Given the description of an element on the screen output the (x, y) to click on. 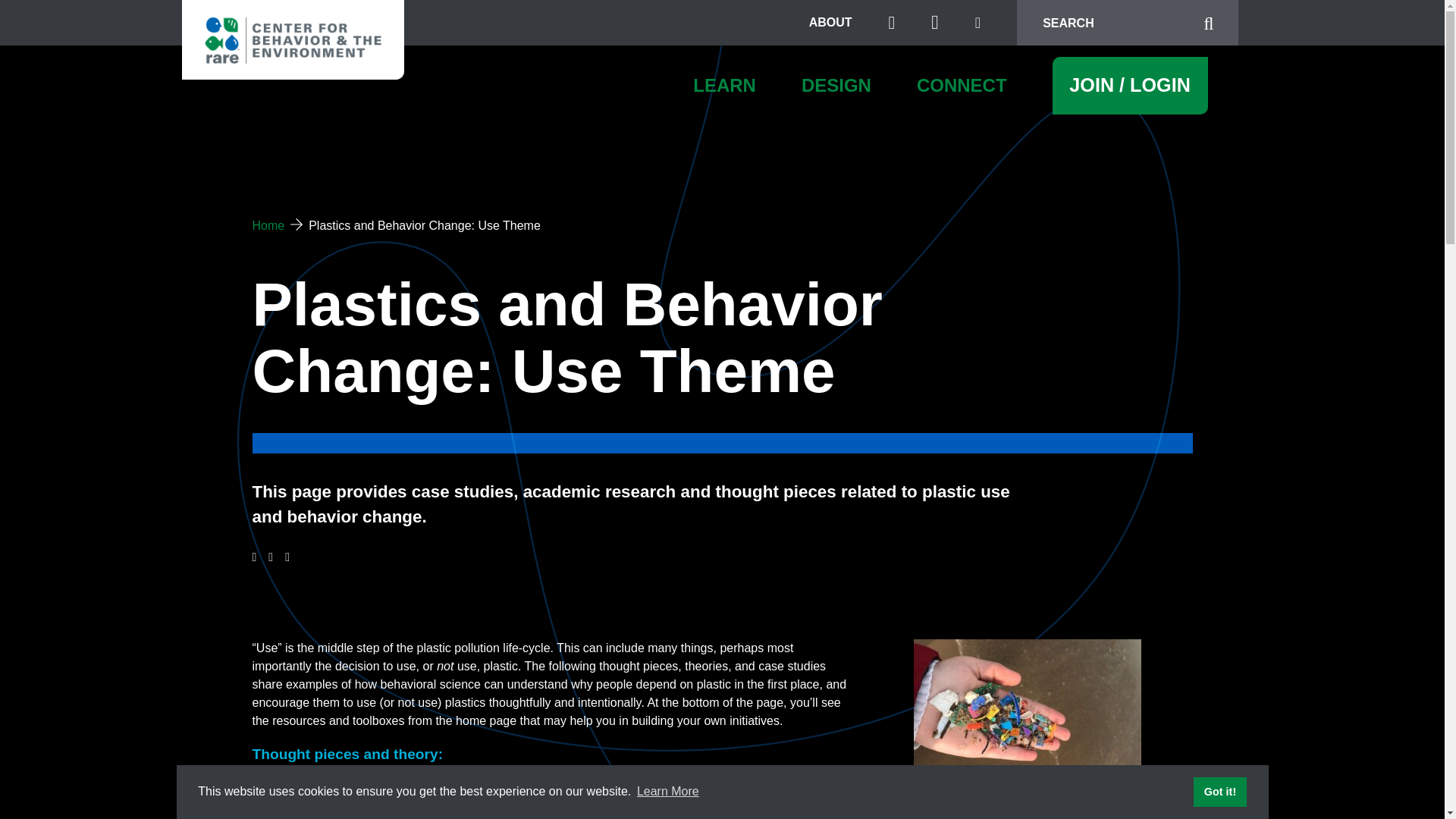
ABOUT (830, 22)
DESIGN (836, 85)
Home (267, 225)
CONNECT (962, 85)
Learn More (667, 791)
LEARN (724, 85)
psychological and social drivers (593, 814)
